Given the description of an element on the screen output the (x, y) to click on. 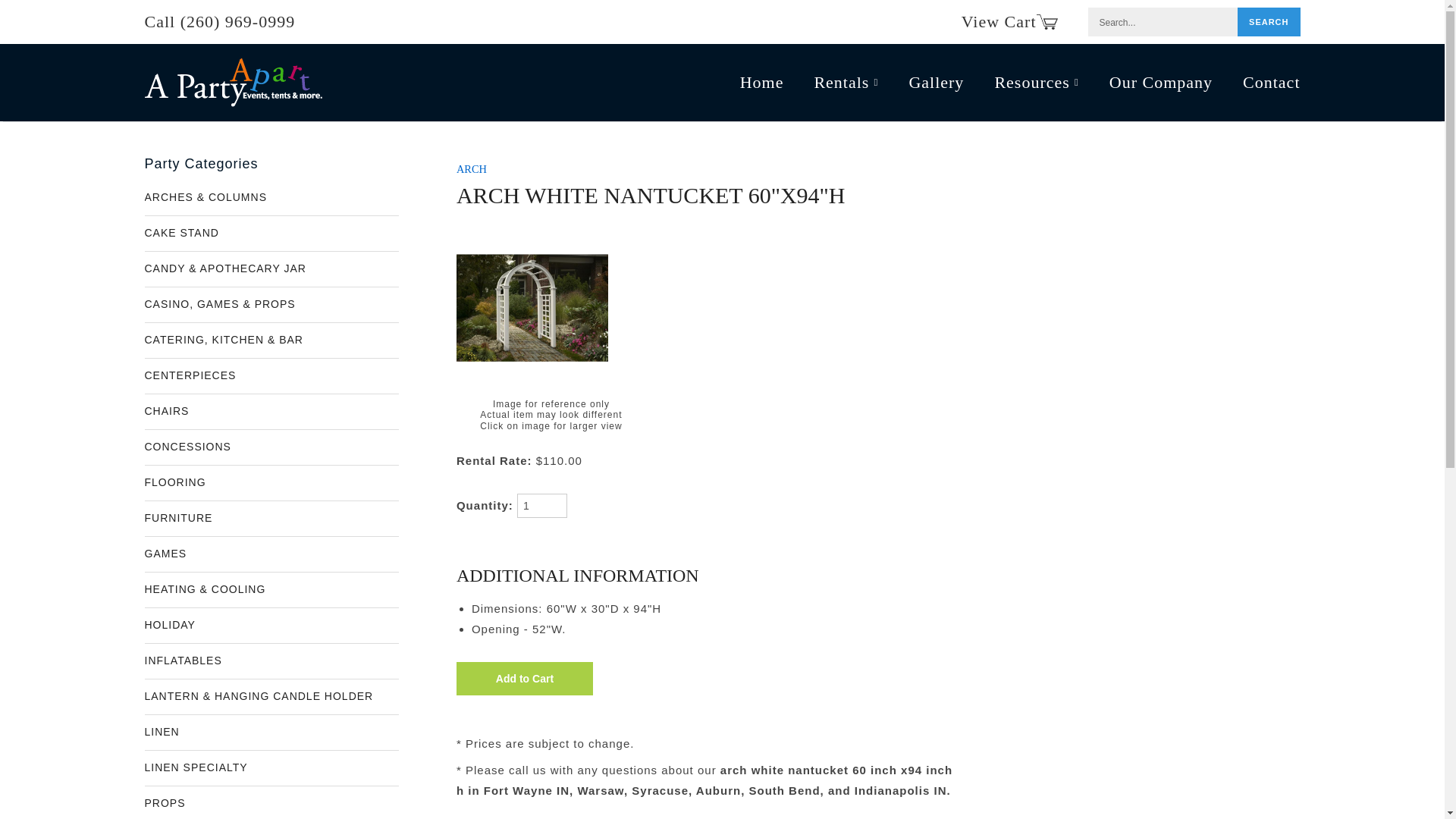
CAKE STAND (270, 233)
INFLATABLES (270, 660)
About A Party Apart (1160, 82)
LINEN SPECIALTY (270, 768)
GAMES (270, 554)
Rentals in Fort Wayne IN (845, 82)
View Cart (1009, 21)
Search... (1268, 21)
Gallery (935, 82)
Rentals (845, 82)
SEARCH (1268, 21)
HOLIDAY (270, 625)
CHAIRS (270, 411)
Resources (1036, 82)
FLOORING (270, 483)
